Given the description of an element on the screen output the (x, y) to click on. 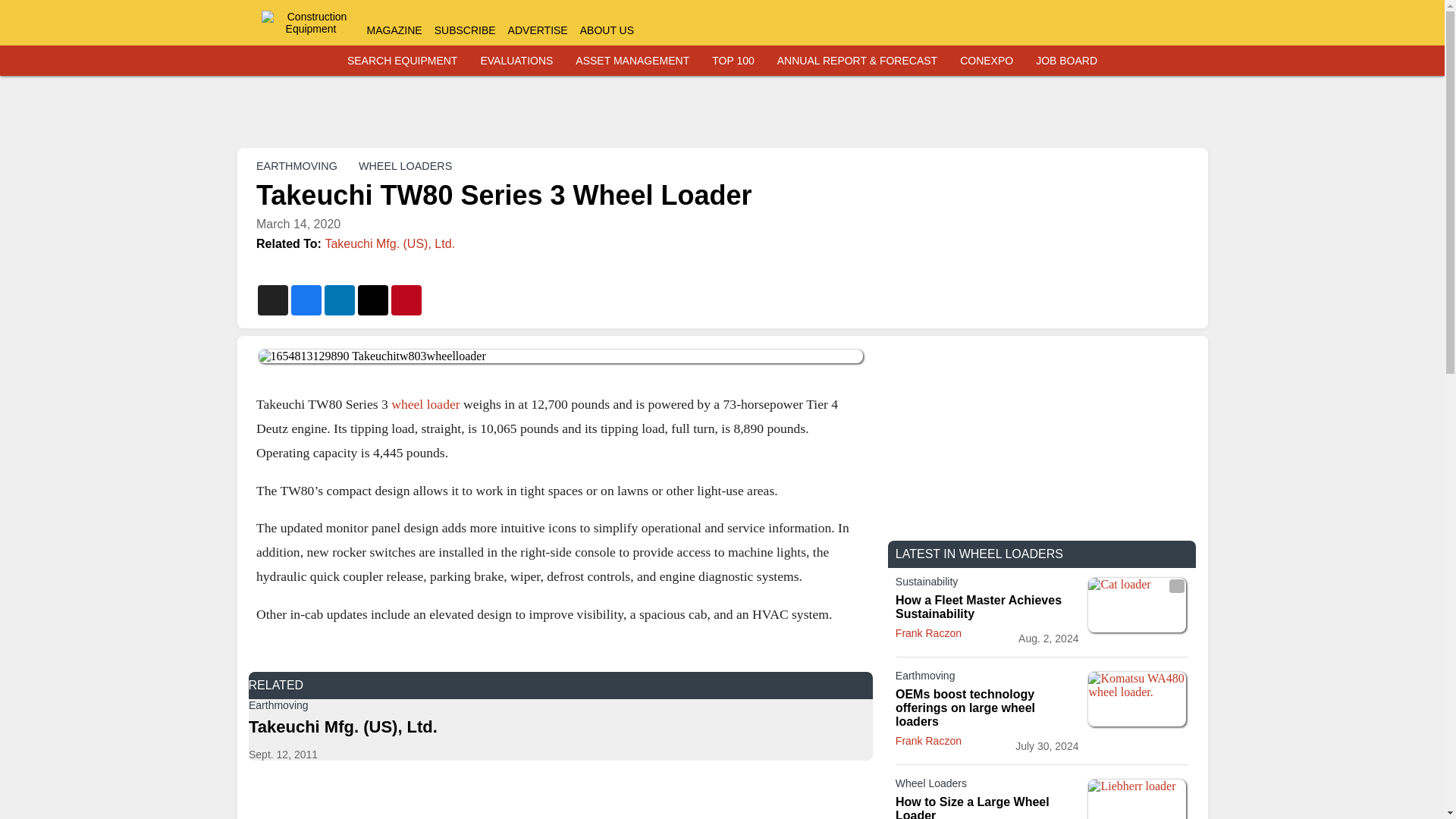
ASSET MANAGEMENT (631, 60)
EVALUATIONS (516, 60)
OEMs boost technology offerings on large wheel loaders (986, 707)
Wheel Loaders (986, 786)
SUBSCRIBE (464, 30)
SEARCH EQUIPMENT (402, 60)
EARTHMOVING (296, 165)
JOB BOARD (1066, 60)
Komatsu WA480 wheel loader. (1136, 698)
Frank Raczon (927, 633)
